Given the description of an element on the screen output the (x, y) to click on. 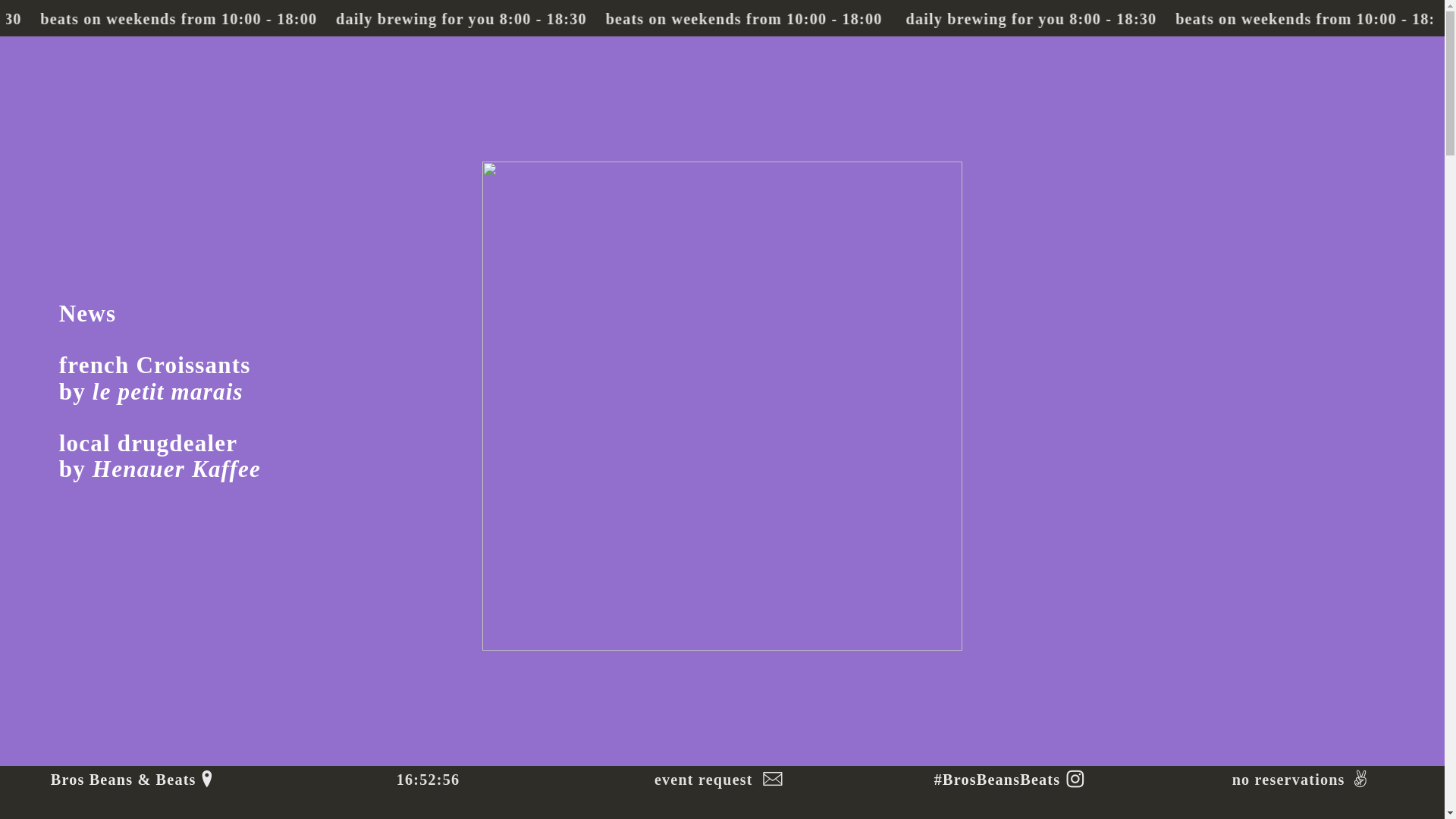
local drugdealer
by Henauer Element type: text (148, 456)
#BrosBeansBeats Element type: text (997, 780)
french Croissants 
by le petit marais Element type: text (158, 378)
